Given the description of an element on the screen output the (x, y) to click on. 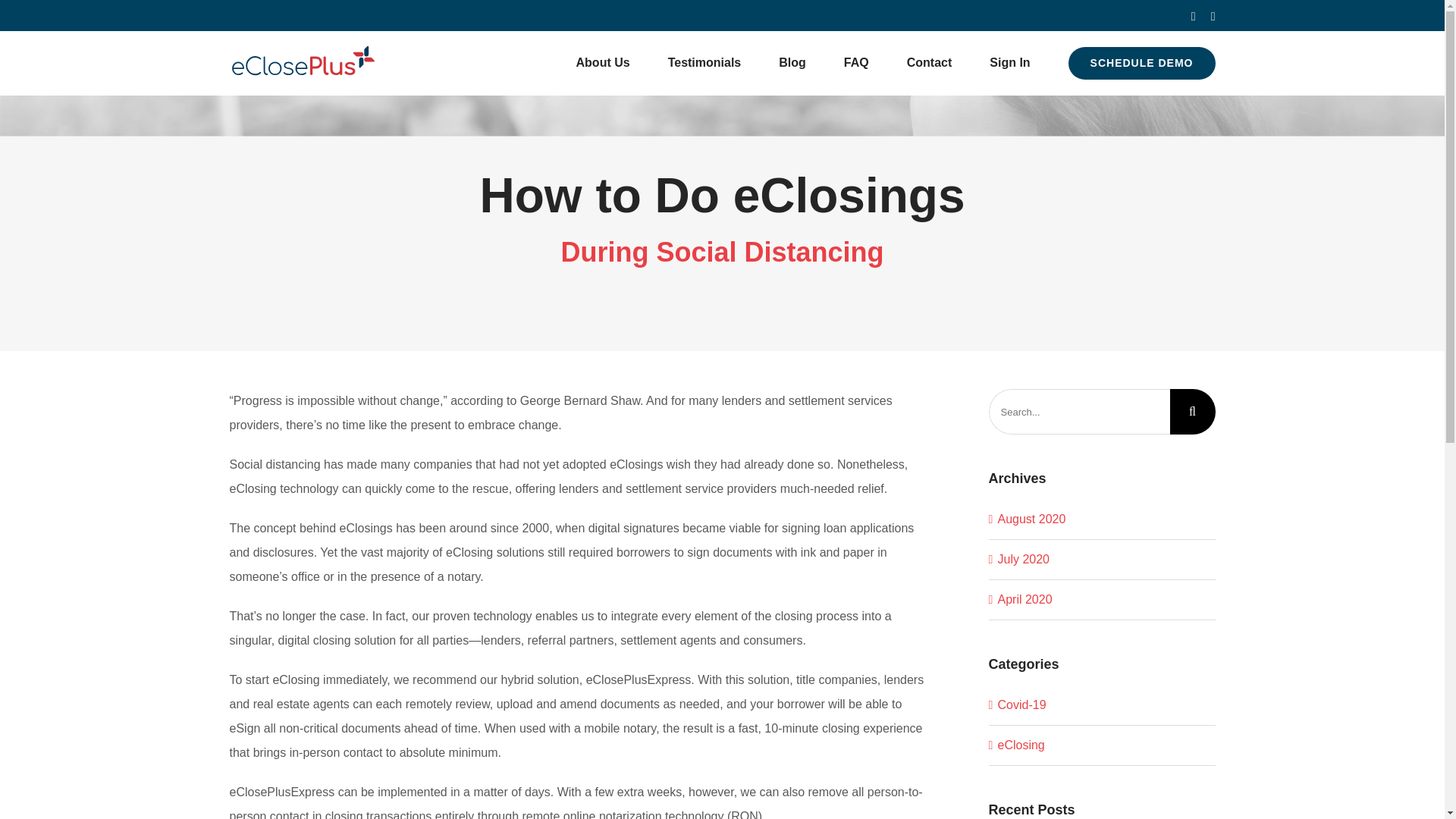
Contact (604, 610)
Blog (779, 586)
Covid-19 (1102, 704)
FAQ (841, 586)
July 2020 (1023, 558)
August 2020 (1031, 518)
About Us (607, 586)
Testimonials (704, 63)
Sign In (660, 610)
1-877-448-8373 (986, 606)
